Given the description of an element on the screen output the (x, y) to click on. 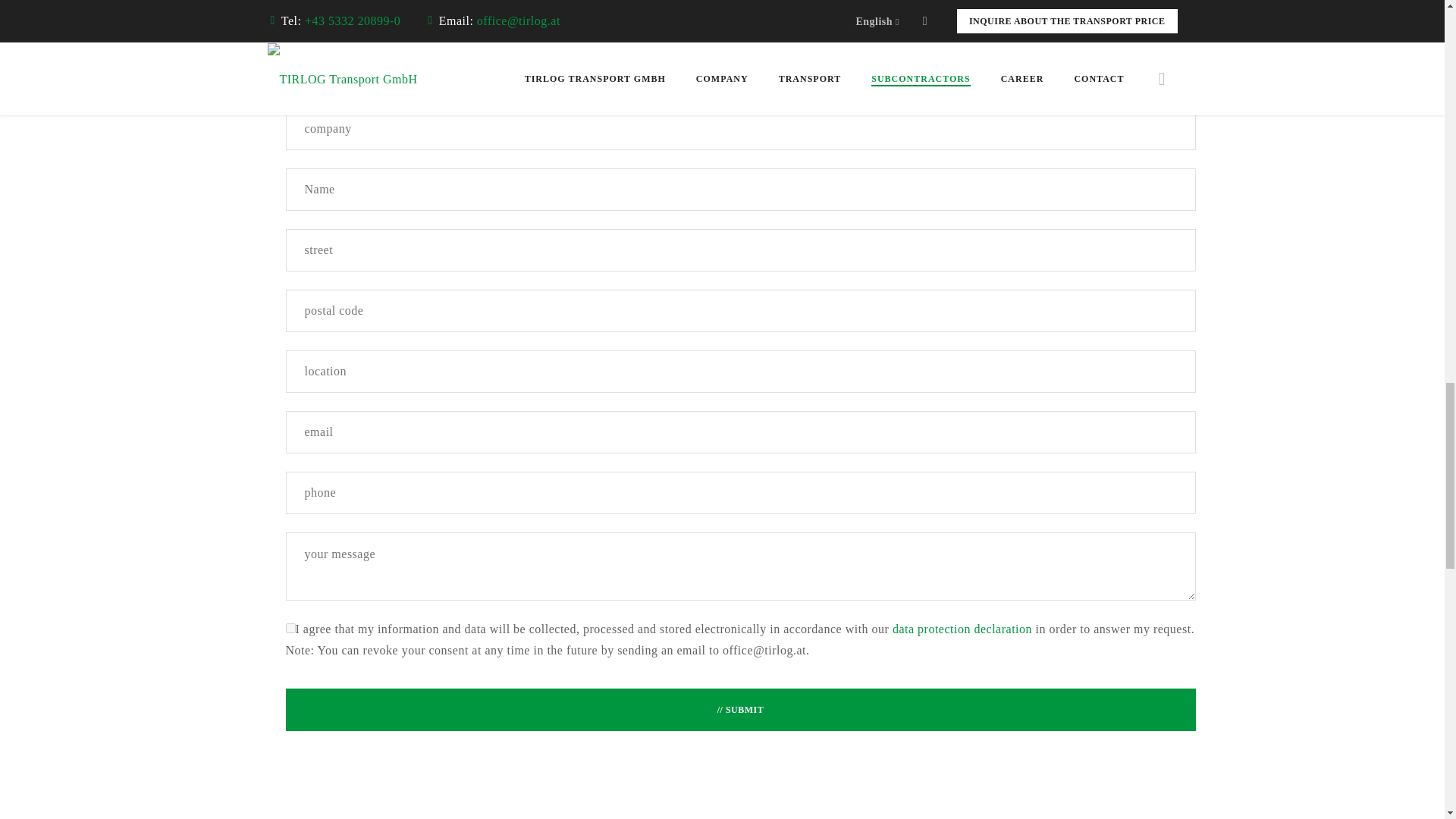
1 (290, 628)
